Given the description of an element on the screen output the (x, y) to click on. 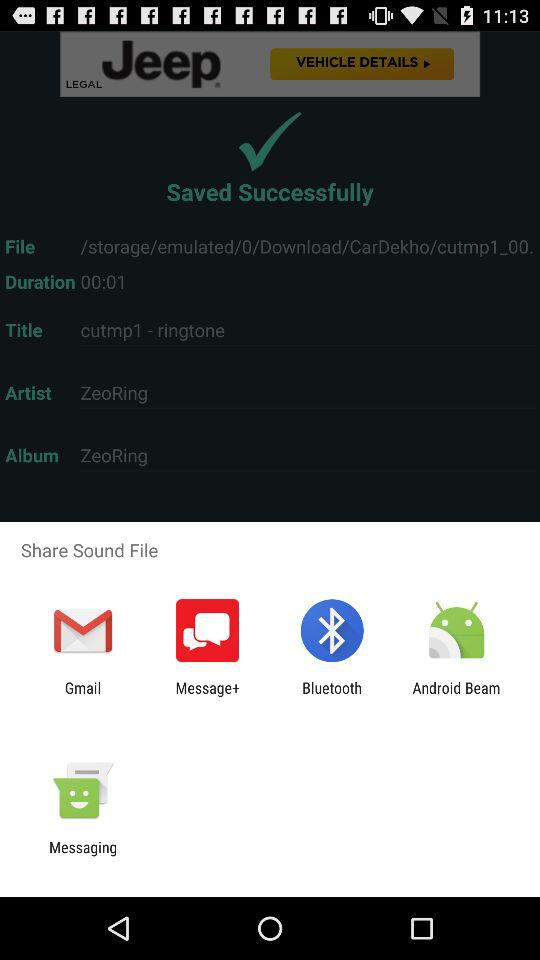
press android beam (456, 696)
